Given the description of an element on the screen output the (x, y) to click on. 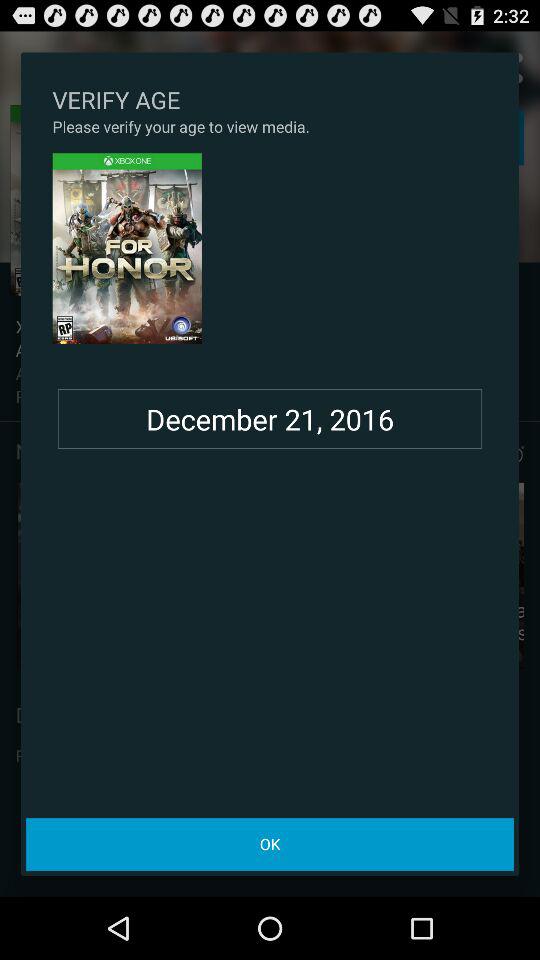
turn off the item below december 21, 2016 icon (270, 844)
